Given the description of an element on the screen output the (x, y) to click on. 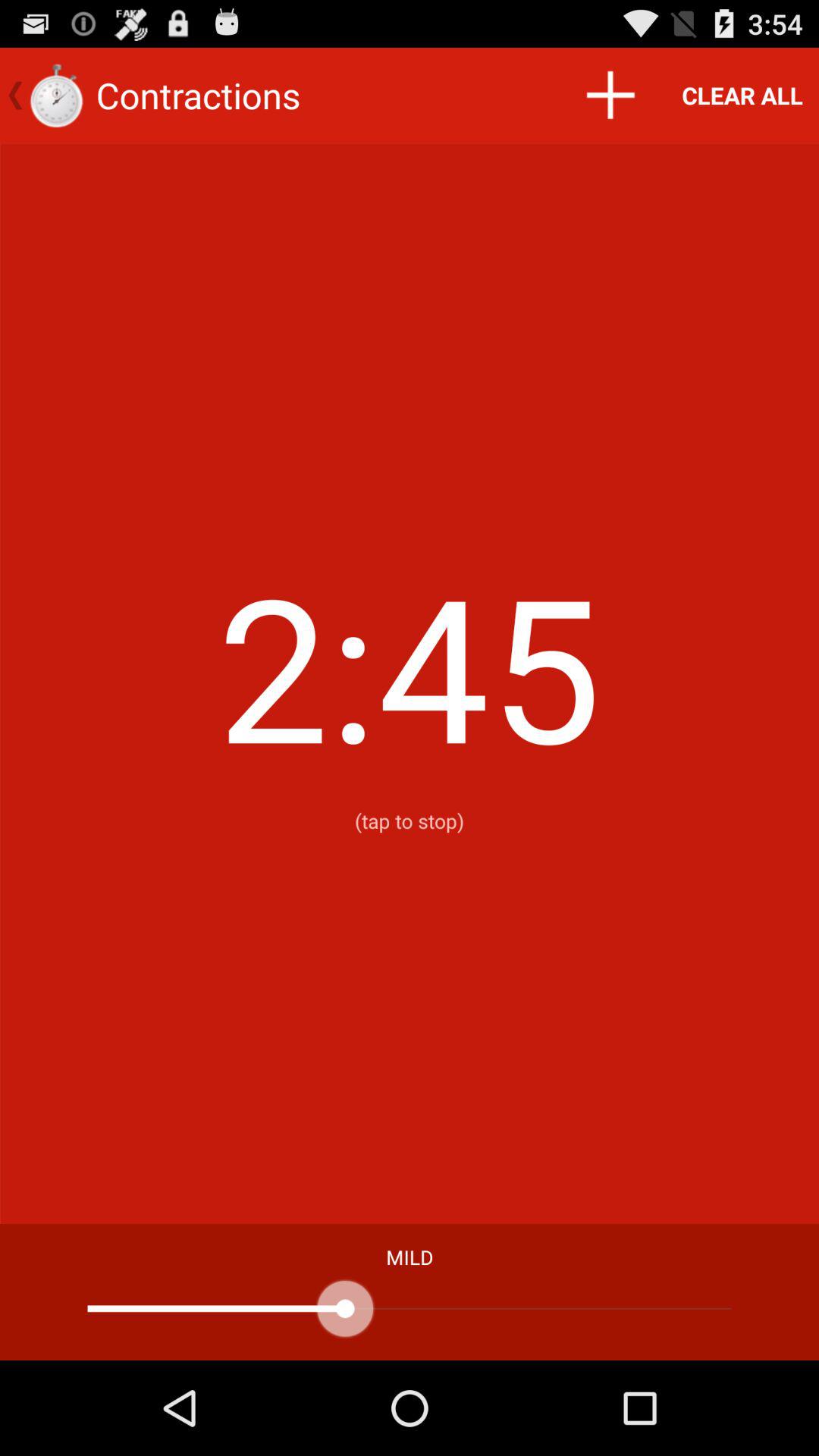
tap clear all icon (742, 95)
